Given the description of an element on the screen output the (x, y) to click on. 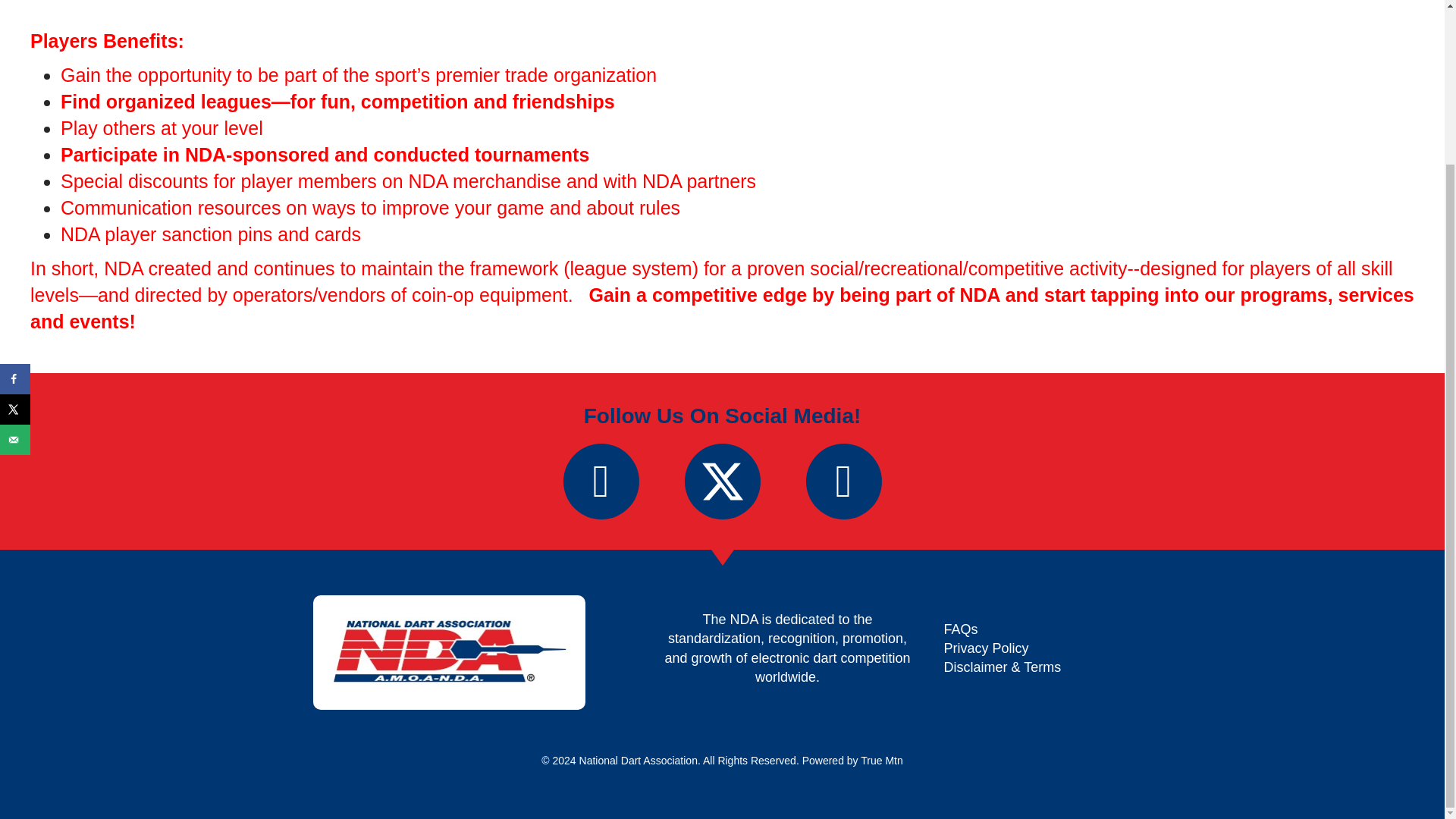
Share on Facebook (15, 183)
Send over email (15, 245)
Share on X (15, 214)
Facebook (600, 481)
nda darts color logo (448, 652)
